Given the description of an element on the screen output the (x, y) to click on. 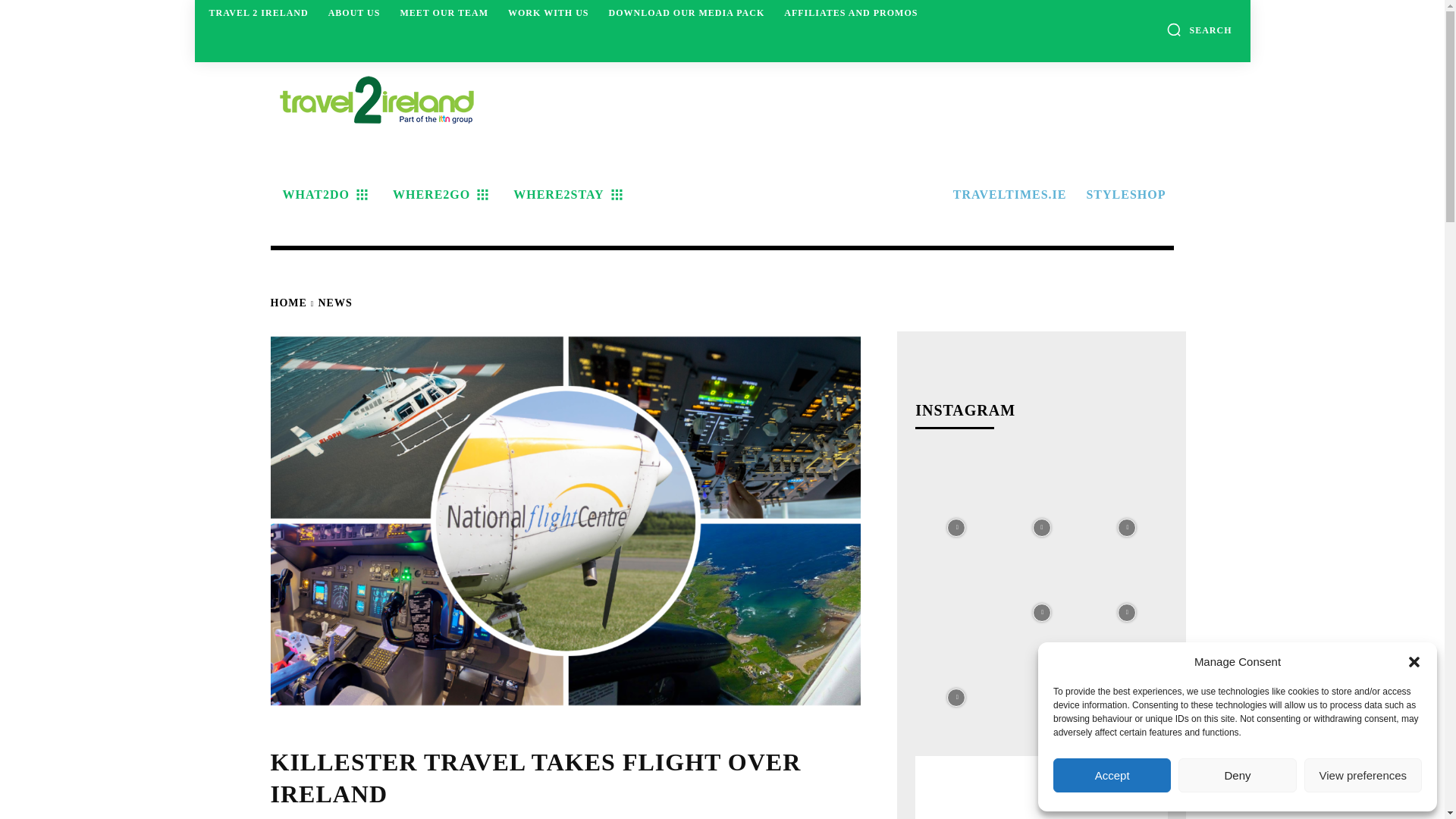
ABOUT US (354, 12)
AFFILIATES AND PROMOS (850, 12)
Deny (1236, 775)
Accept (1111, 775)
DOWNLOAD OUR MEDIA PACK (685, 12)
WORK WITH US (547, 12)
MEET OUR TEAM (443, 12)
WHAT2DO (322, 194)
View preferences (1363, 775)
SEARCH (1198, 29)
TRAVELTIMES.IE (1007, 194)
TRAVEL 2 IRELAND (258, 12)
STYLESHOP (1123, 194)
